Given the description of an element on the screen output the (x, y) to click on. 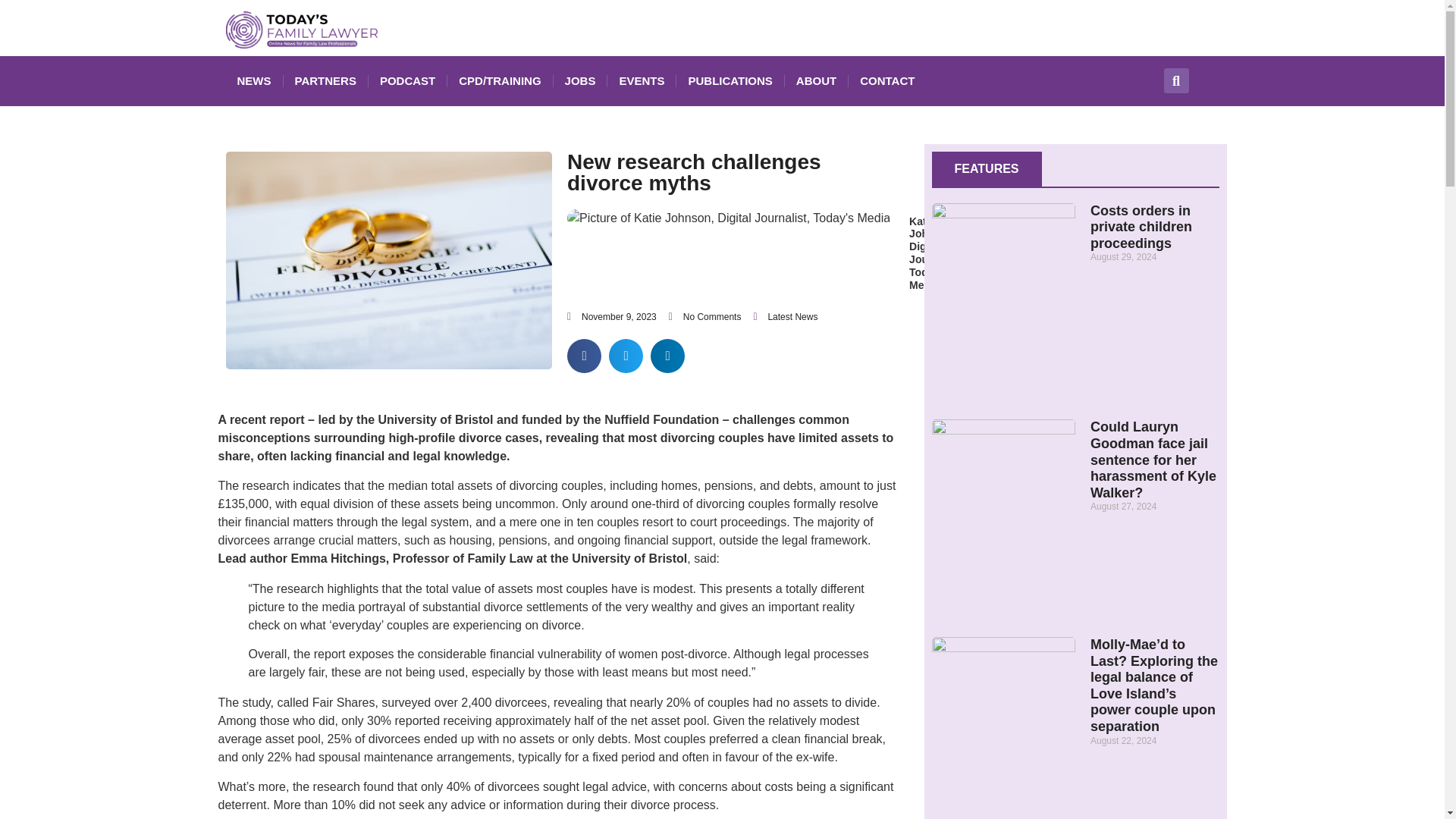
JOBS (580, 80)
ABOUT (815, 80)
PARTNERS (325, 80)
CONTACT (887, 80)
PUBLICATIONS (730, 80)
NEWS (253, 80)
PODCAST (407, 80)
EVENTS (641, 80)
